Given the description of an element on the screen output the (x, y) to click on. 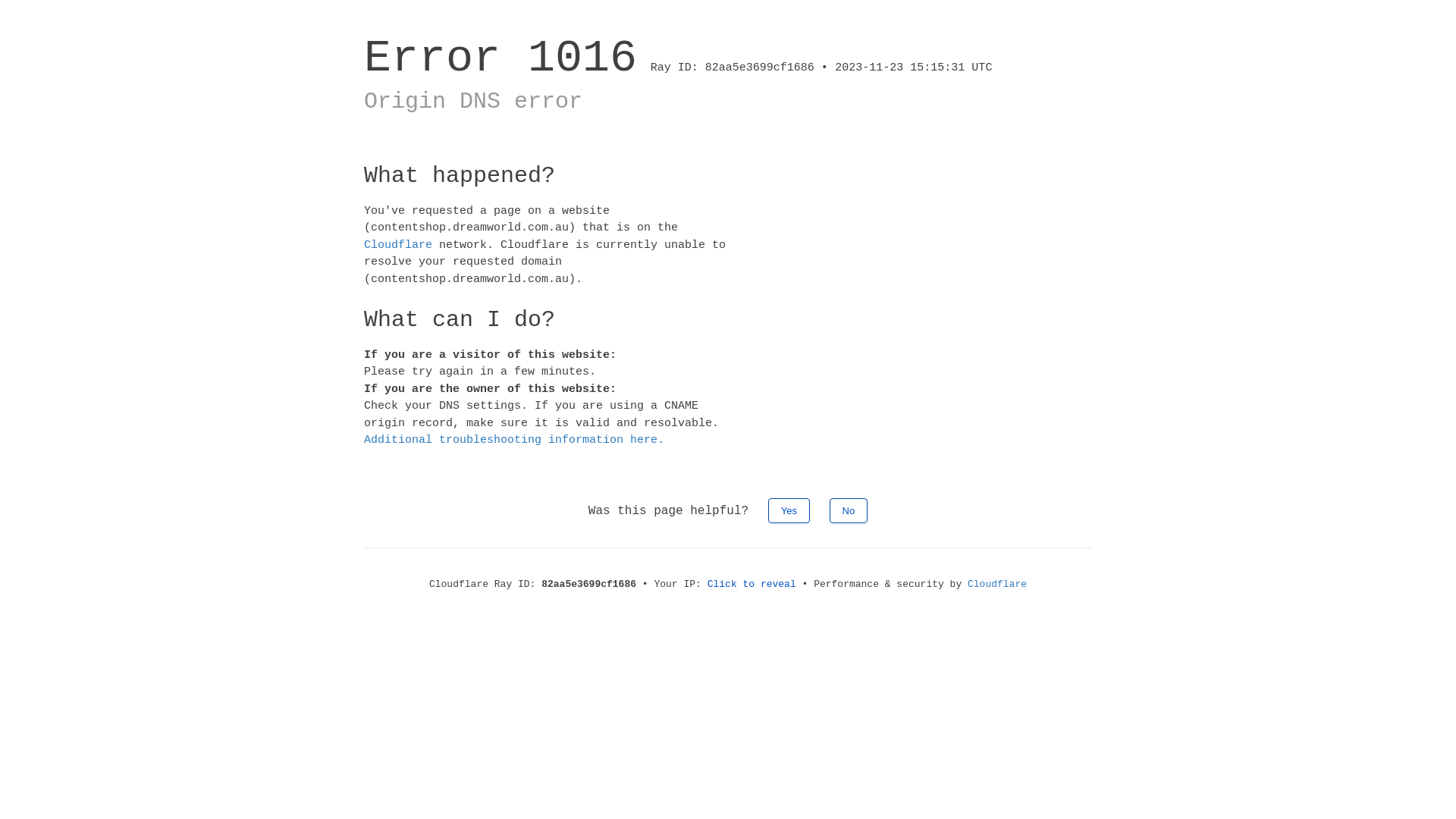
Cloudflare Element type: text (398, 244)
Yes Element type: text (788, 509)
Additional troubleshooting information here. Element type: text (514, 439)
Click to reveal Element type: text (751, 583)
No Element type: text (848, 509)
Cloudflare Element type: text (996, 583)
